Given the description of an element on the screen output the (x, y) to click on. 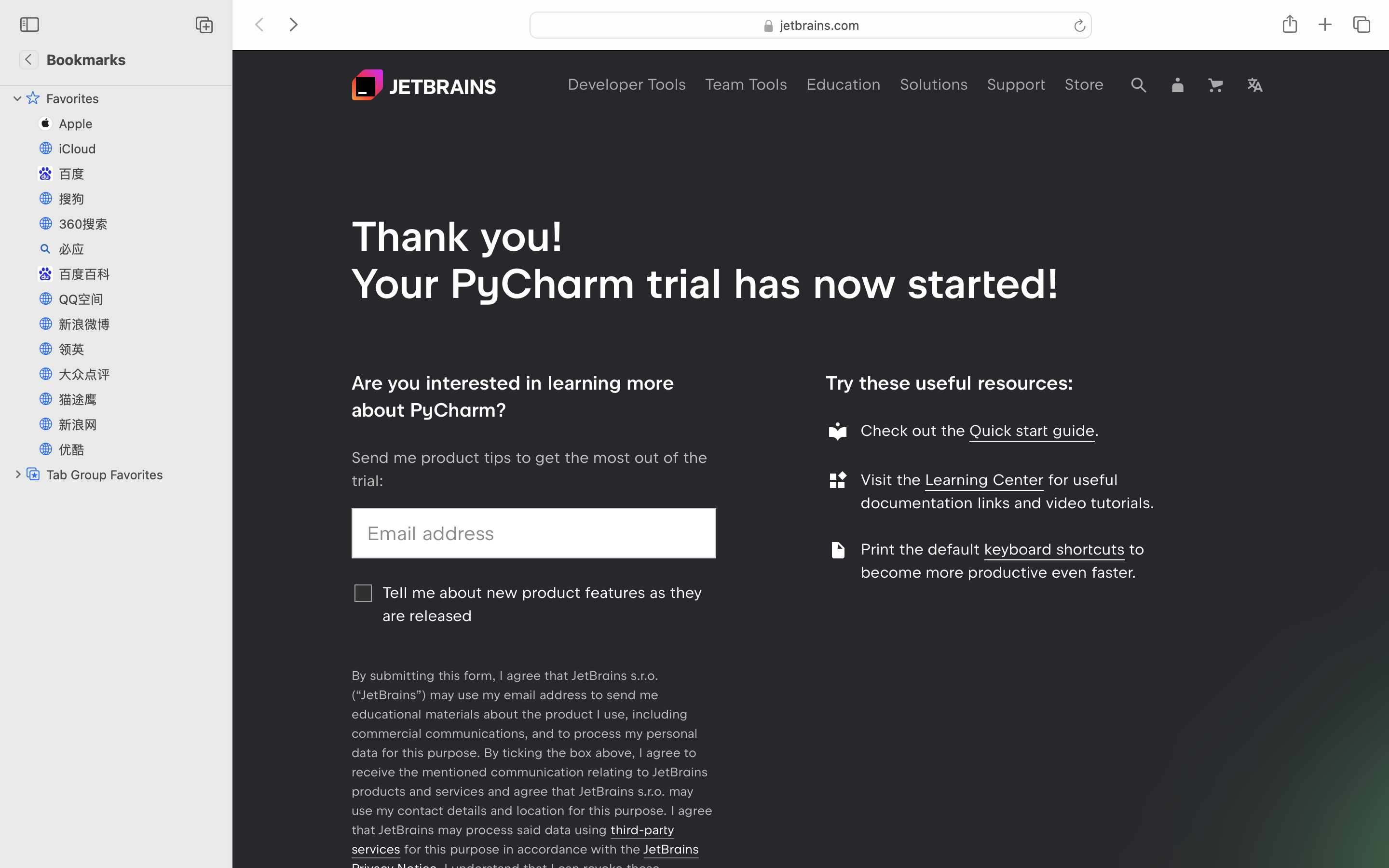
third-party services Element type: AXStaticText (512, 839)
百度百科 Element type: AXTextField (139, 273)
Send me product tips to get the most out of the trial: Element type: AXStaticText (529, 468)
新浪网 Element type: AXTextField (139, 424)
Quick start guide Element type: AXStaticText (1031, 430)
